Given the description of an element on the screen output the (x, y) to click on. 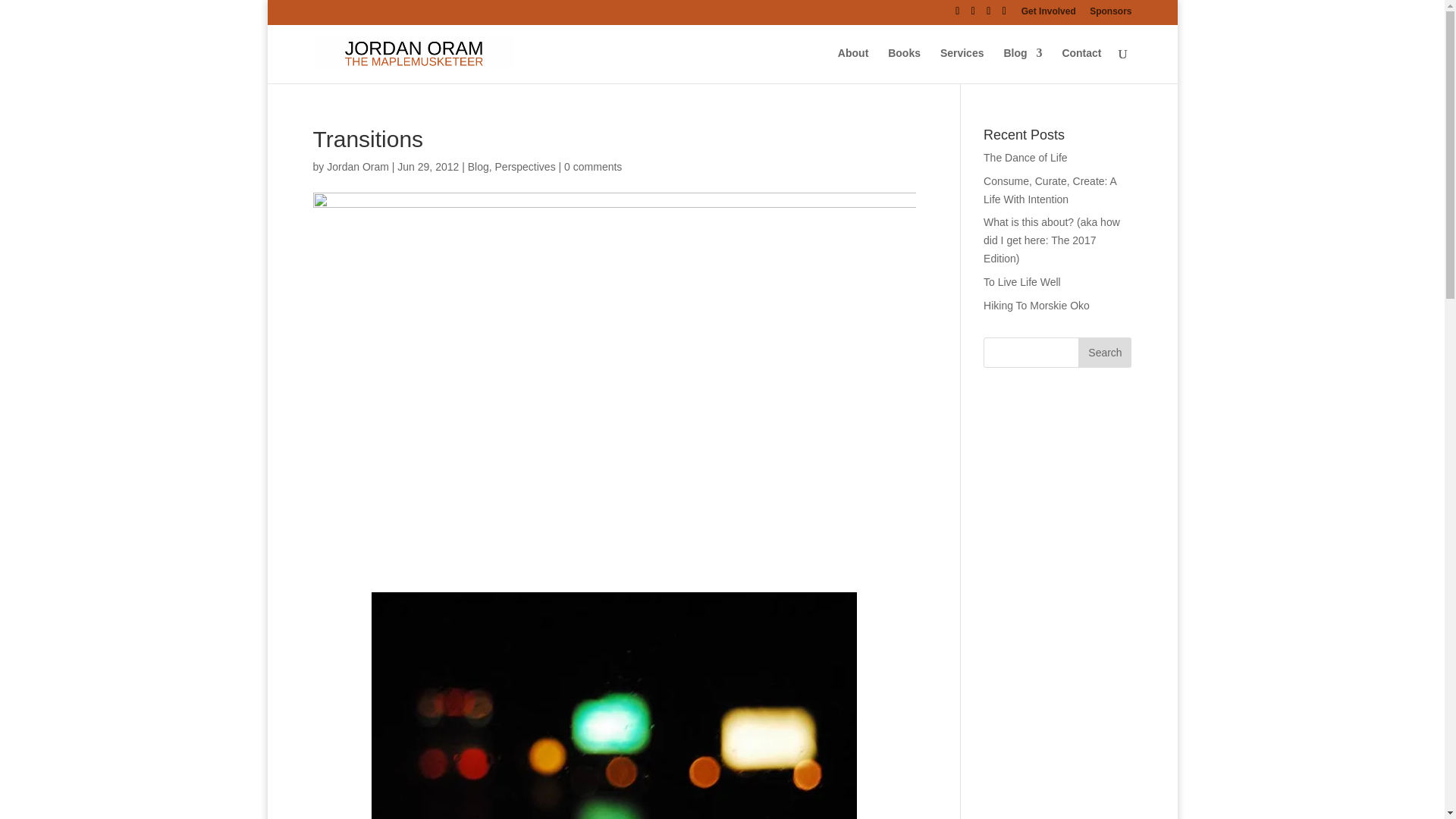
The Dance of Life (1025, 157)
Books (904, 65)
Transitions2 (614, 705)
Services (962, 65)
Blog (478, 166)
Get Involved (1048, 14)
Perspectives (525, 166)
Blog (1022, 65)
Contact (1080, 65)
To Live Life Well (1022, 282)
0 comments (592, 166)
Jordan Oram (357, 166)
Search (1104, 352)
Consume, Curate, Create: A Life With Intention (1050, 190)
Posts by Jordan Oram (357, 166)
